Given the description of an element on the screen output the (x, y) to click on. 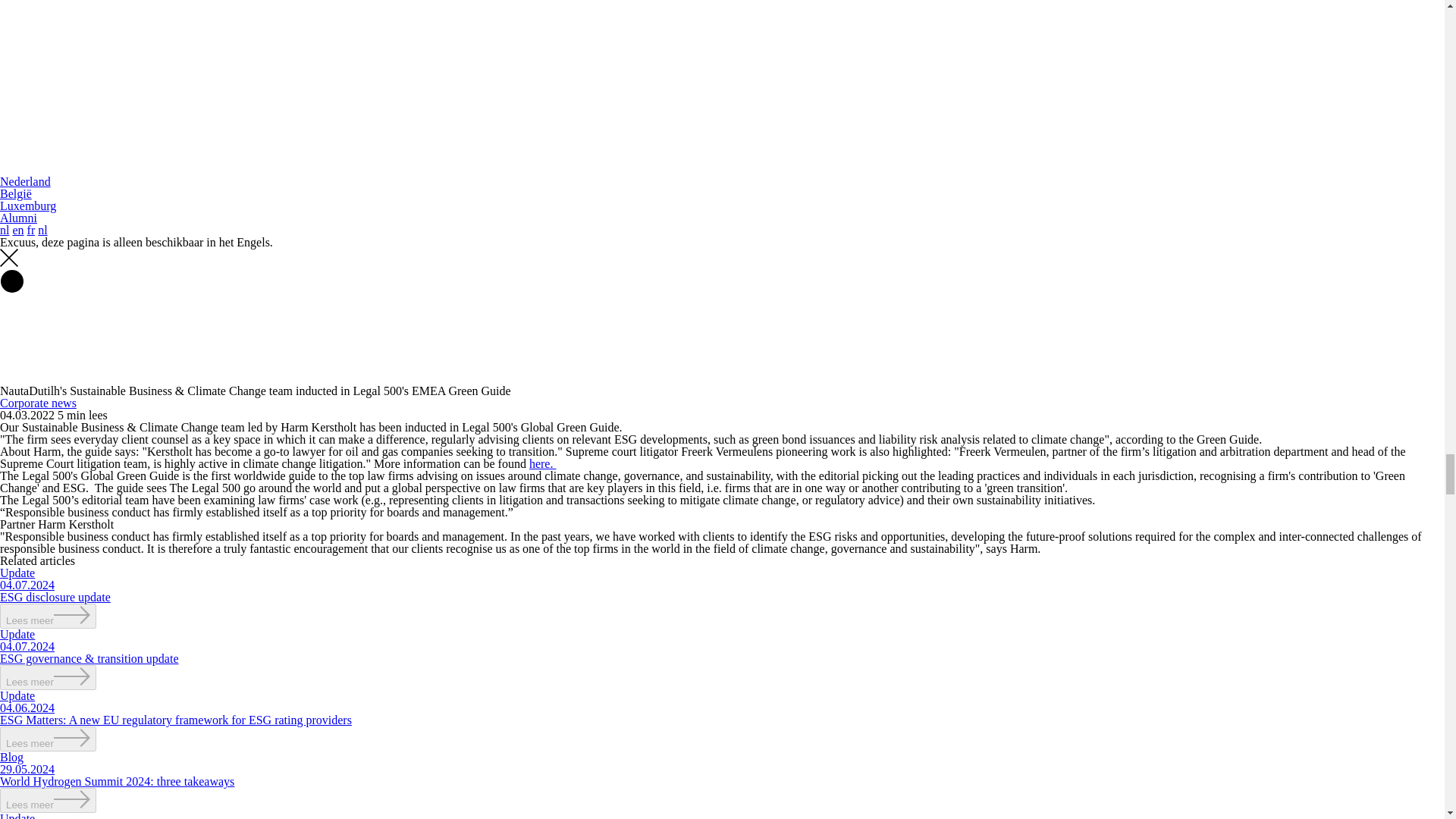
en (17, 229)
nl (4, 229)
Lees meer (48, 677)
Luxemburg (28, 205)
Lees meer (48, 615)
Nederland (25, 181)
Corporate news (38, 402)
here.  (542, 463)
Lees meer (48, 738)
nl (41, 229)
fr (30, 229)
Alumni (18, 217)
Lees meer (48, 800)
